Given the description of an element on the screen output the (x, y) to click on. 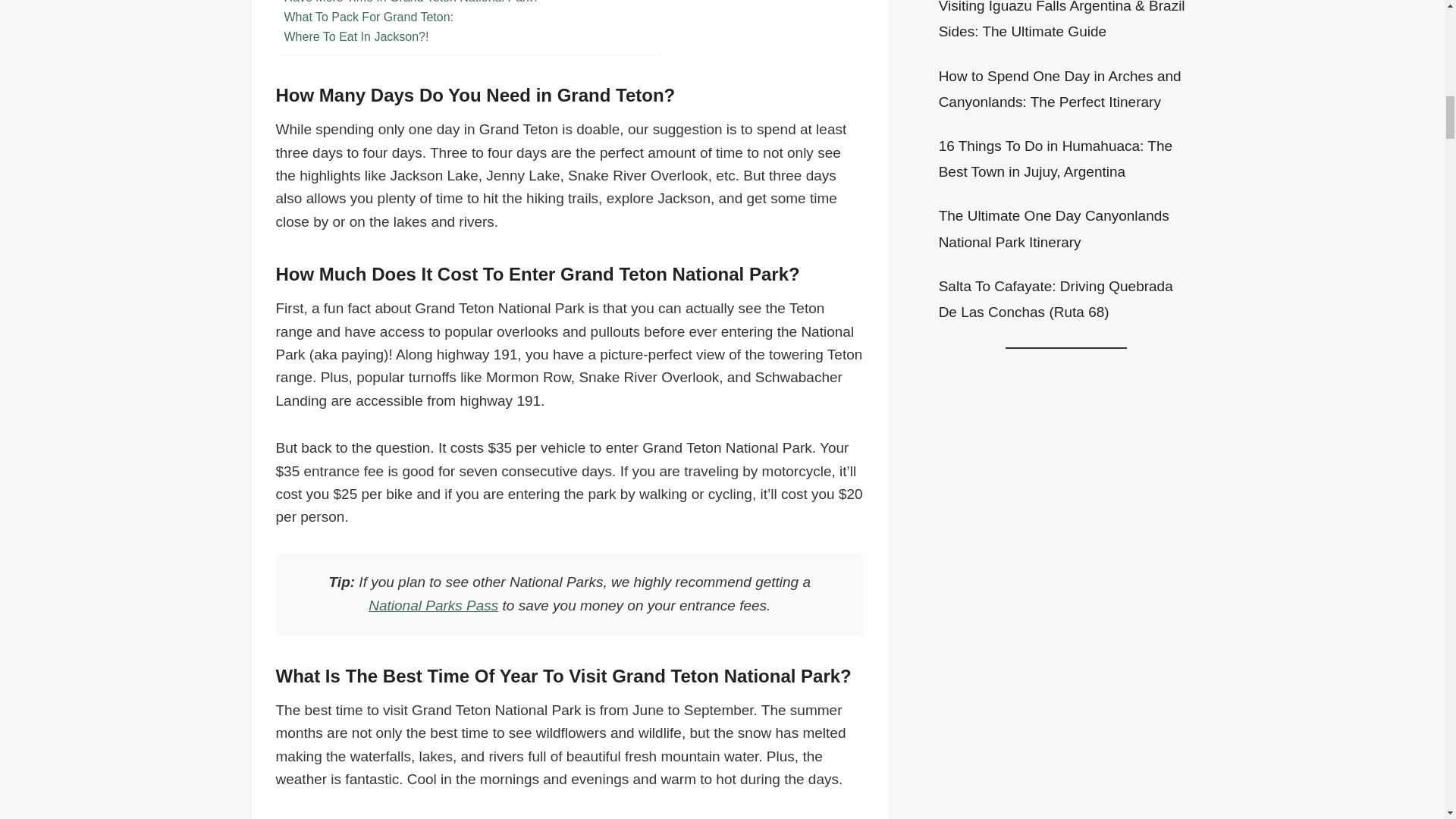
Where To Eat In Jackson?! (355, 36)
What To Pack For Grand Teton: (367, 17)
Have More Time In Grand Teton National Park? (410, 3)
National Parks Pass (432, 605)
